Given the description of an element on the screen output the (x, y) to click on. 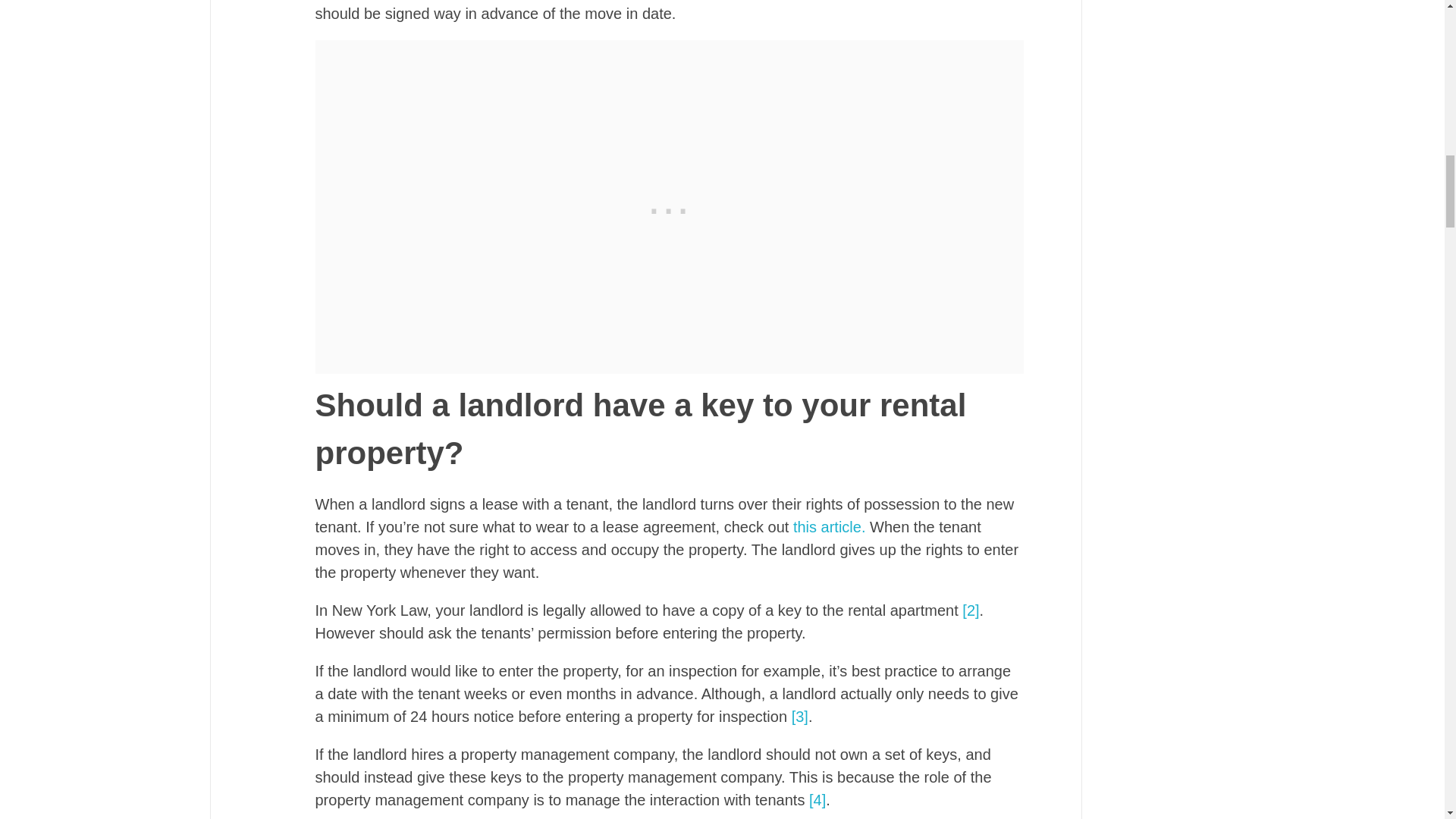
this article. (829, 526)
